Given the description of an element on the screen output the (x, y) to click on. 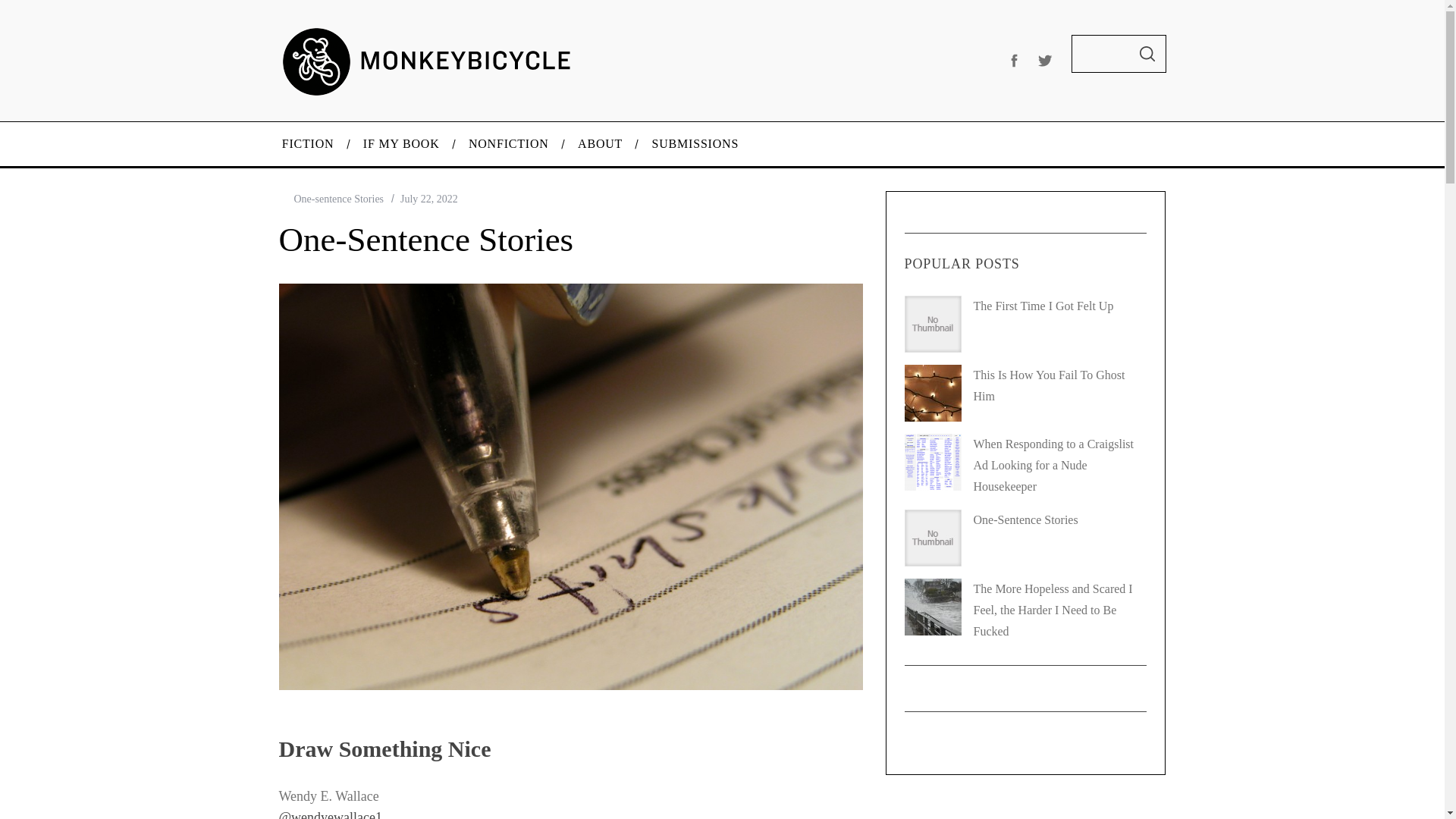
SUBMISSIONS (694, 144)
IF MY BOOK (401, 144)
ABOUT (600, 144)
One-sentence Stories (339, 198)
SEARCH (1147, 53)
FICTION (306, 144)
Wendy E. Wallace (328, 795)
NONFICTION (508, 144)
